Given the description of an element on the screen output the (x, y) to click on. 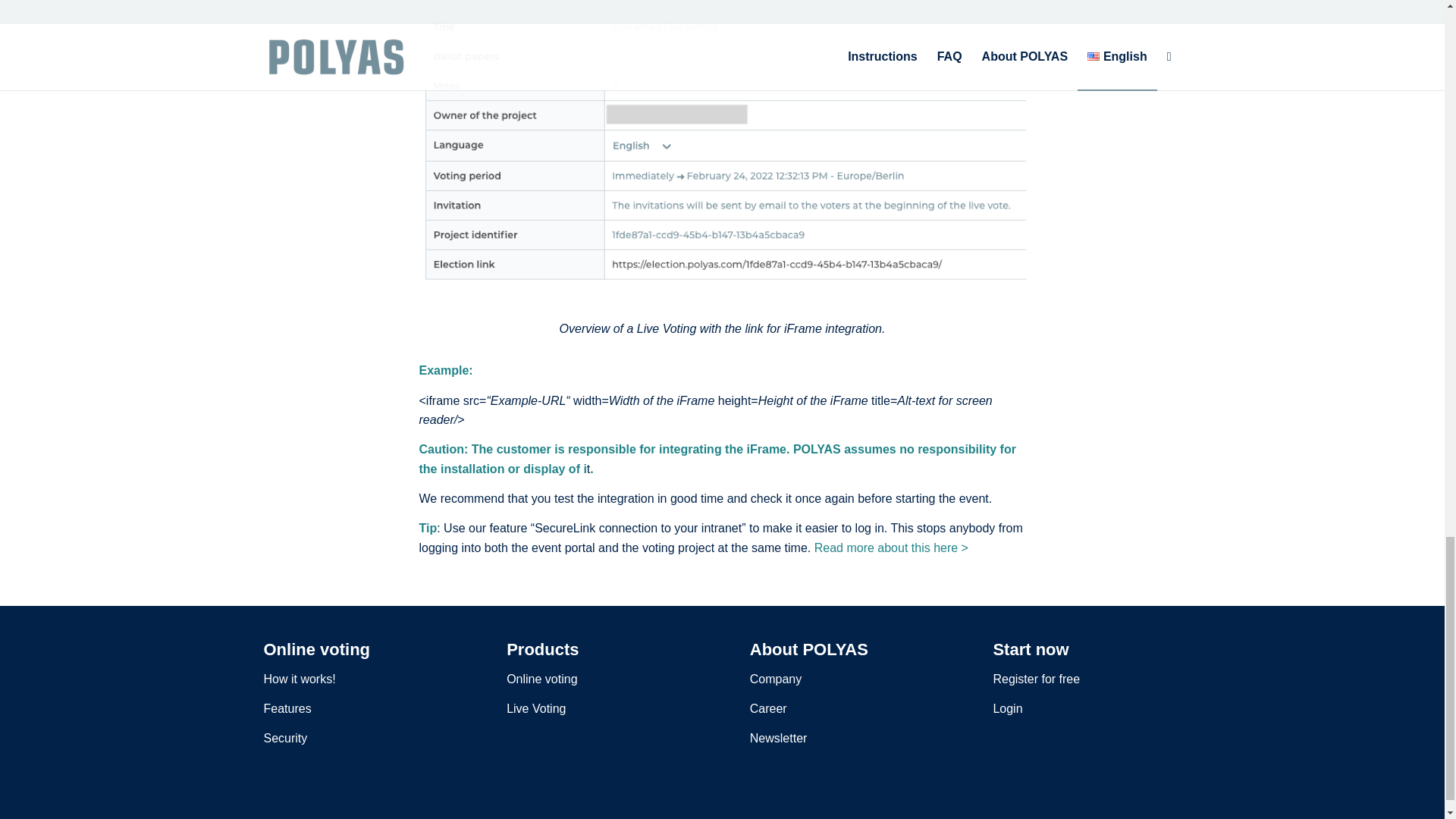
Instagram (1146, 815)
Newsletter (778, 738)
Career (768, 707)
LinkedIn (1124, 815)
Online voting (541, 678)
Twitter (1078, 815)
How it works! (299, 678)
Live Voting (536, 707)
Company (775, 678)
Features (287, 707)
Security (285, 738)
Facebook (1101, 815)
Youtube (1169, 815)
